Given the description of an element on the screen output the (x, y) to click on. 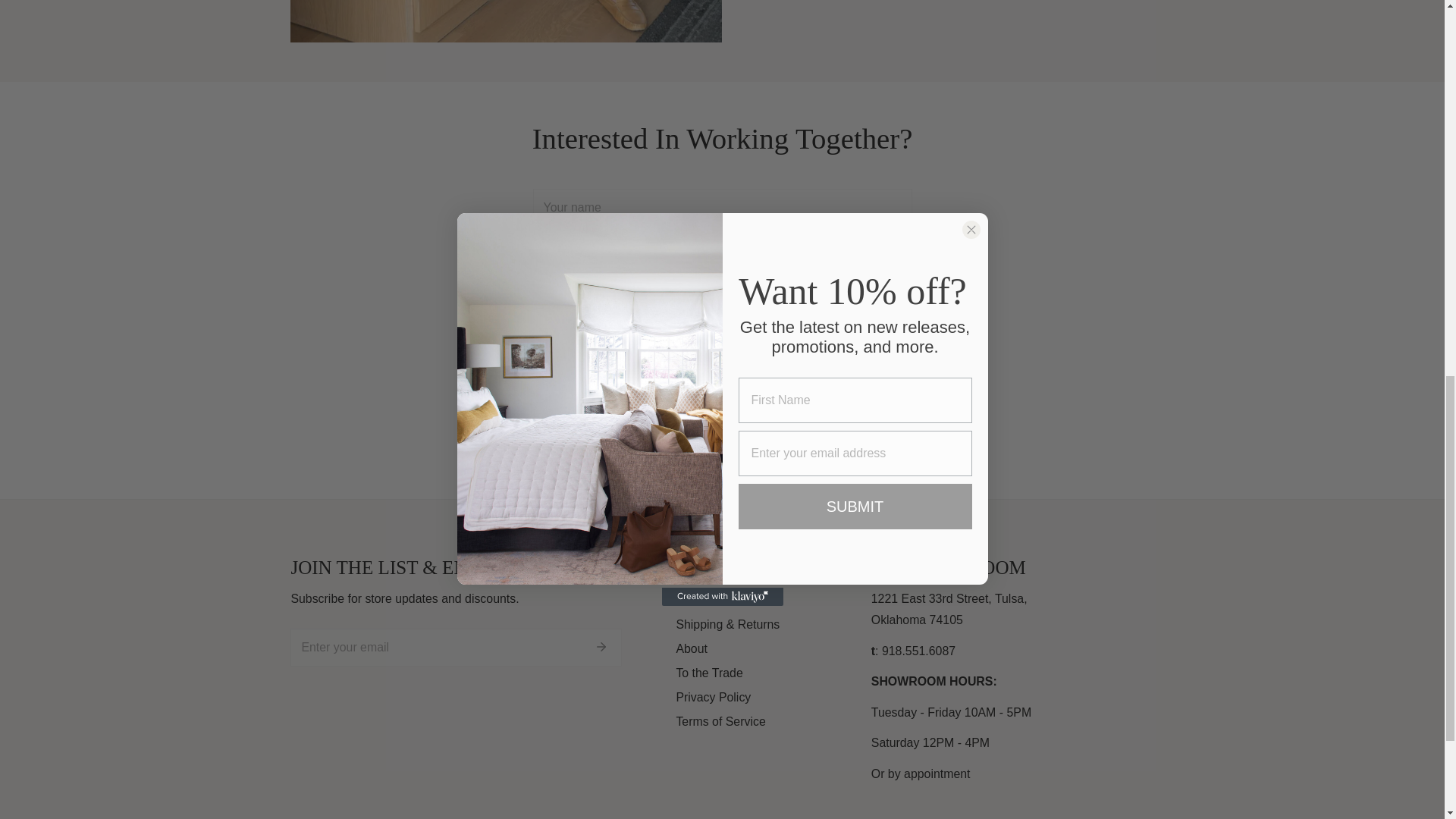
About (691, 648)
Privacy Policy (713, 697)
To the Trade (708, 672)
Contact (696, 599)
Terms of Service (720, 721)
SUBMIT (721, 441)
